Given the description of an element on the screen output the (x, y) to click on. 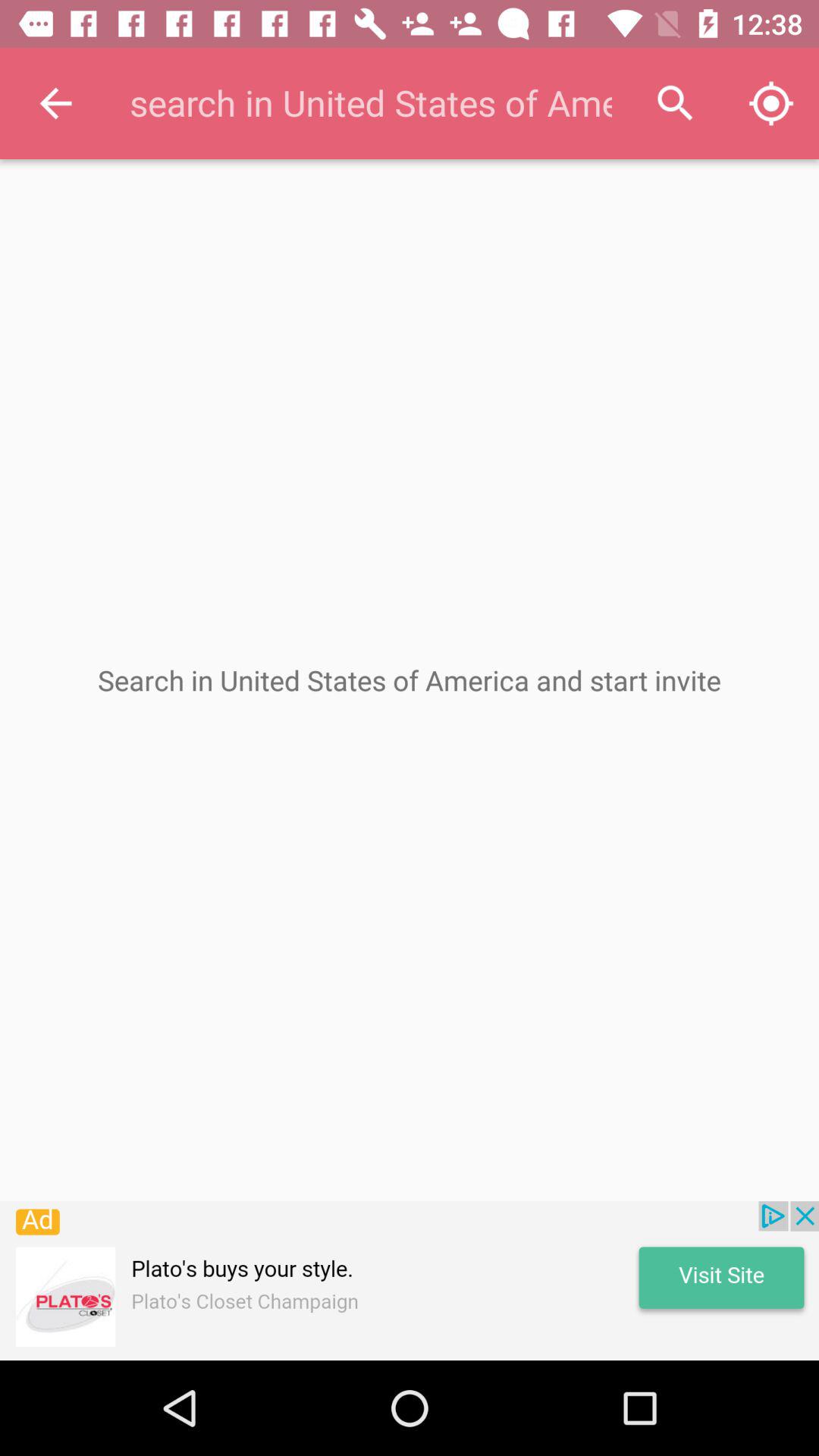
advertisement (409, 1280)
